Given the description of an element on the screen output the (x, y) to click on. 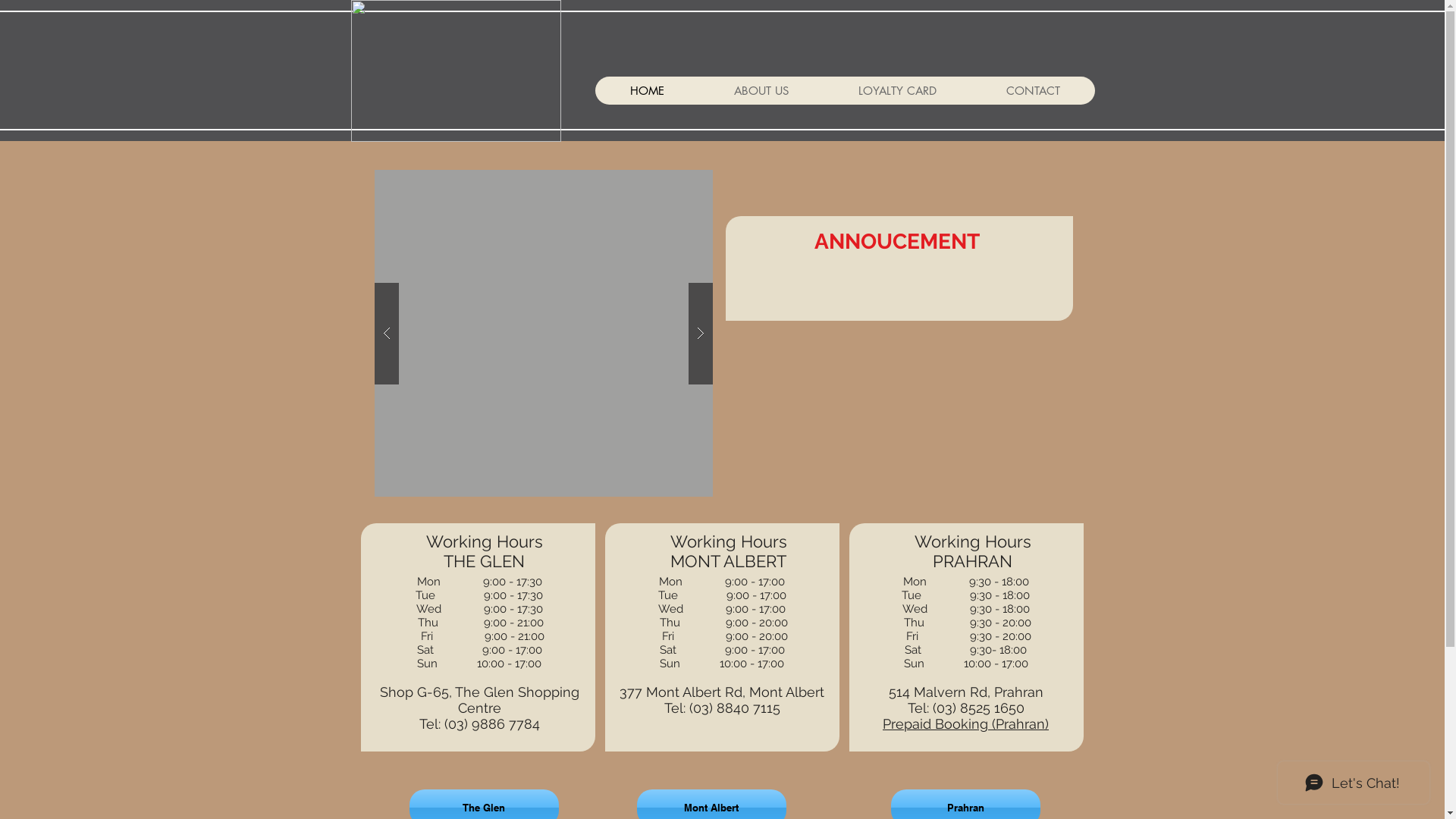
HOME Element type: text (646, 90)
ABOUT US Element type: text (761, 90)
CONTACT Element type: text (1032, 90)
LOYALTY CARD Element type: text (897, 90)
